Given the description of an element on the screen output the (x, y) to click on. 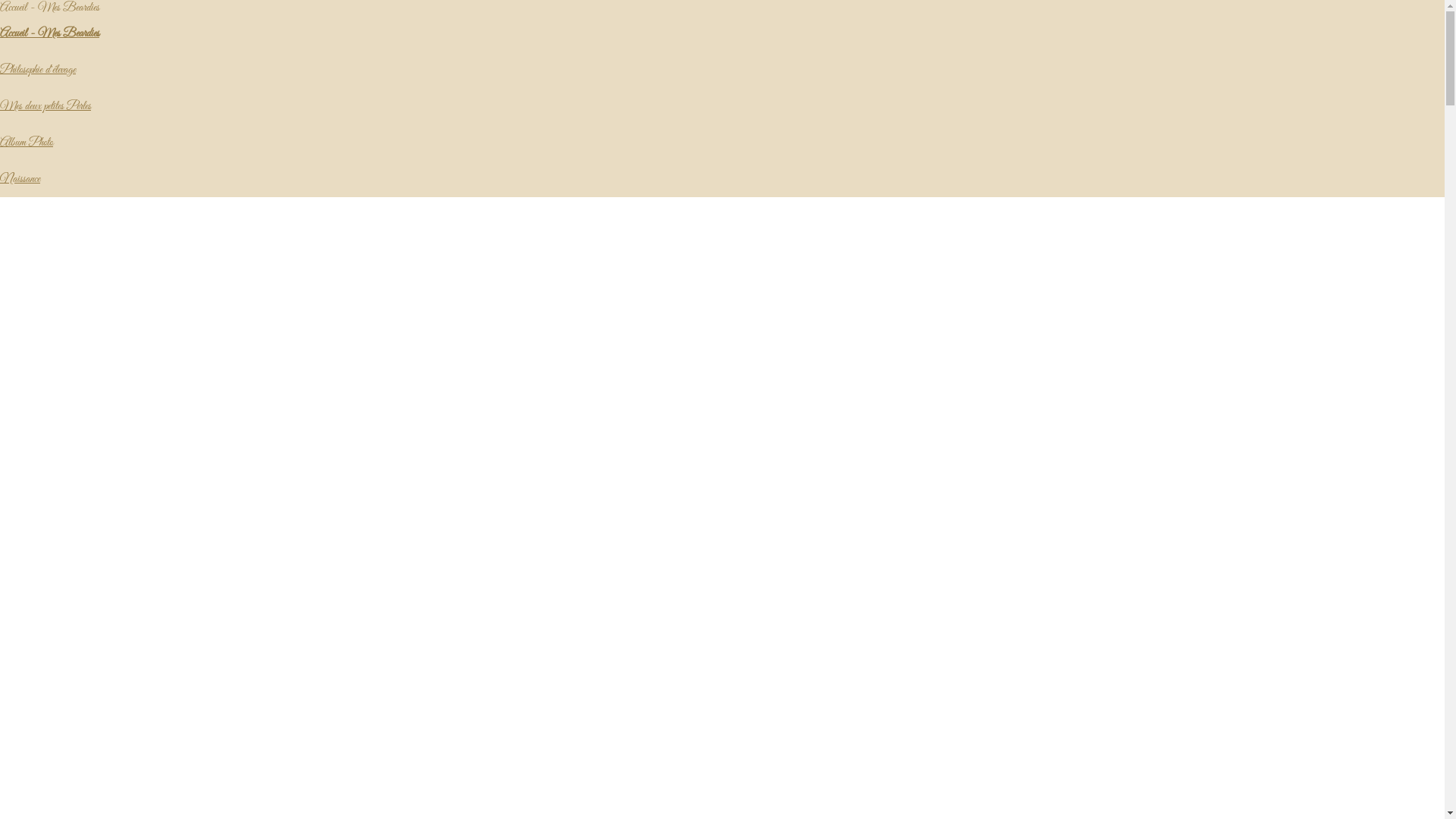
Album Photo Element type: text (26, 142)
Accueil - Mes Beardies Element type: text (49, 32)
Mes deux petites Perles Element type: text (45, 105)
Naissance Element type: text (20, 178)
